Given the description of an element on the screen output the (x, y) to click on. 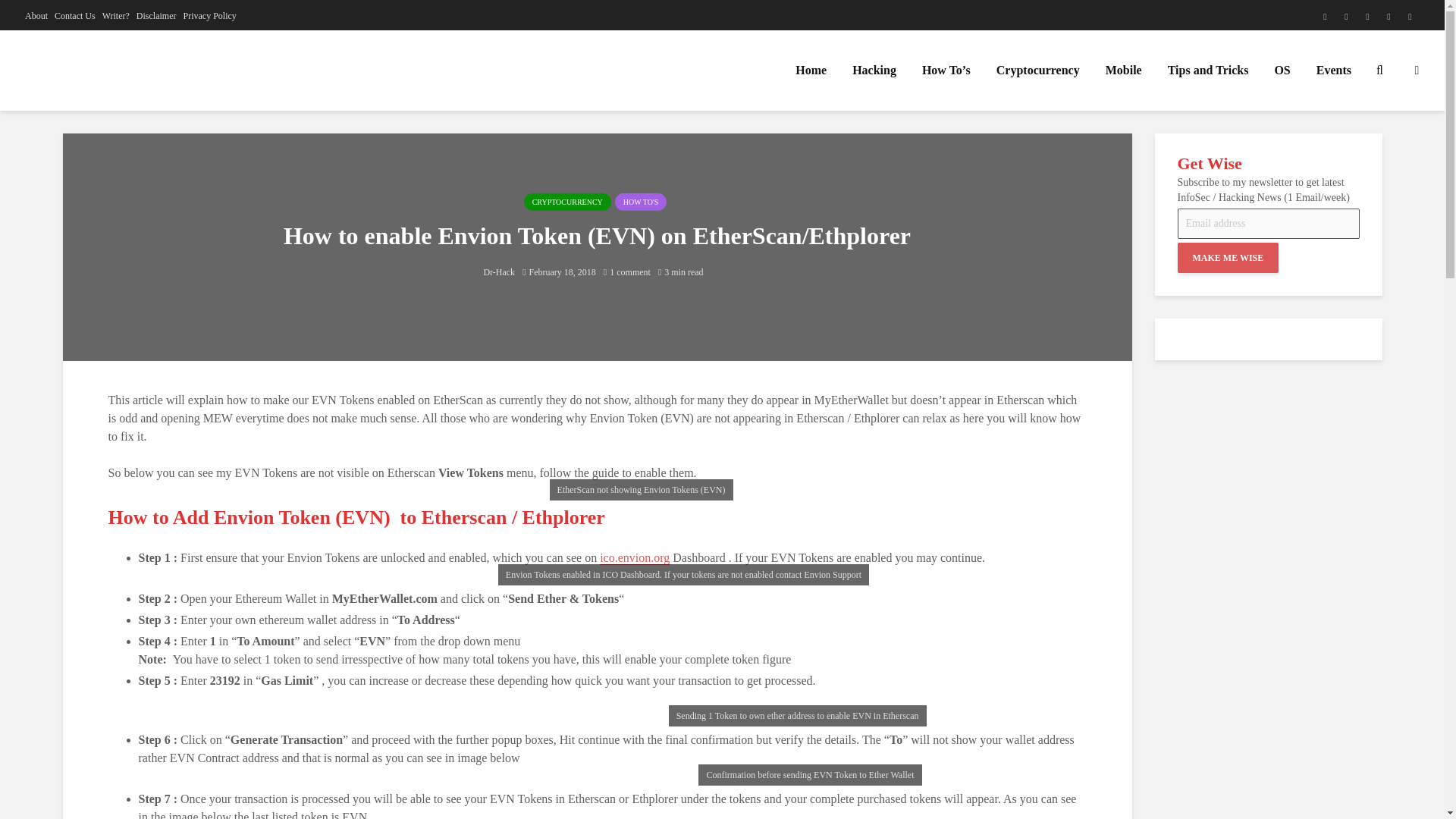
Events (1333, 70)
About (36, 15)
OS (1281, 70)
Cryptocurrency (1037, 70)
Hacking (874, 70)
Contact Us (75, 15)
Writer? (115, 15)
Home (811, 70)
Disclaimer (156, 15)
Tips and Tricks (1208, 70)
Mobile (1123, 70)
Privacy Policy (209, 15)
